Given the description of an element on the screen output the (x, y) to click on. 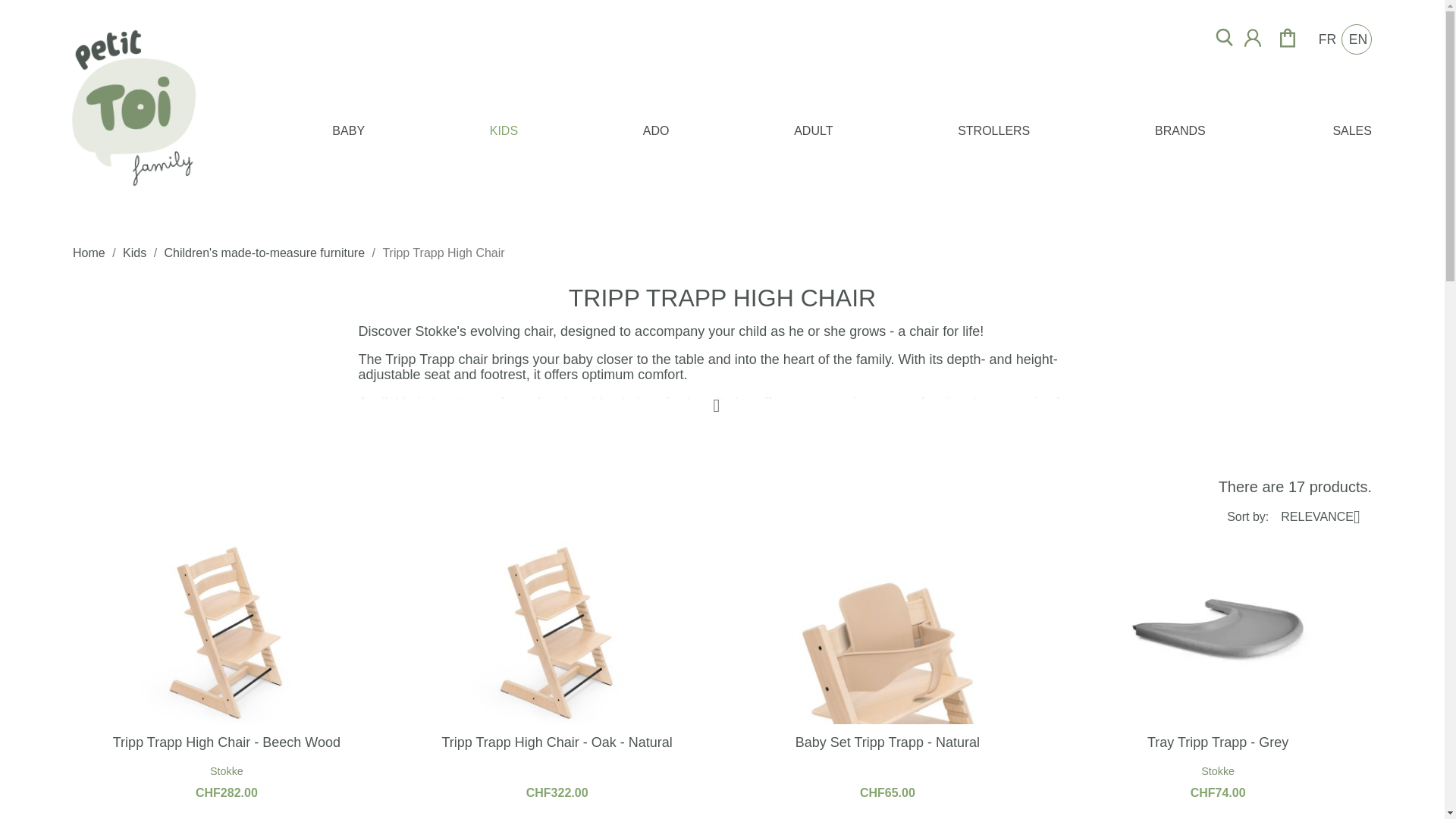
FR (1325, 39)
EN (1355, 39)
Log in to your customer account (1252, 44)
BABY (348, 131)
